Given the description of an element on the screen output the (x, y) to click on. 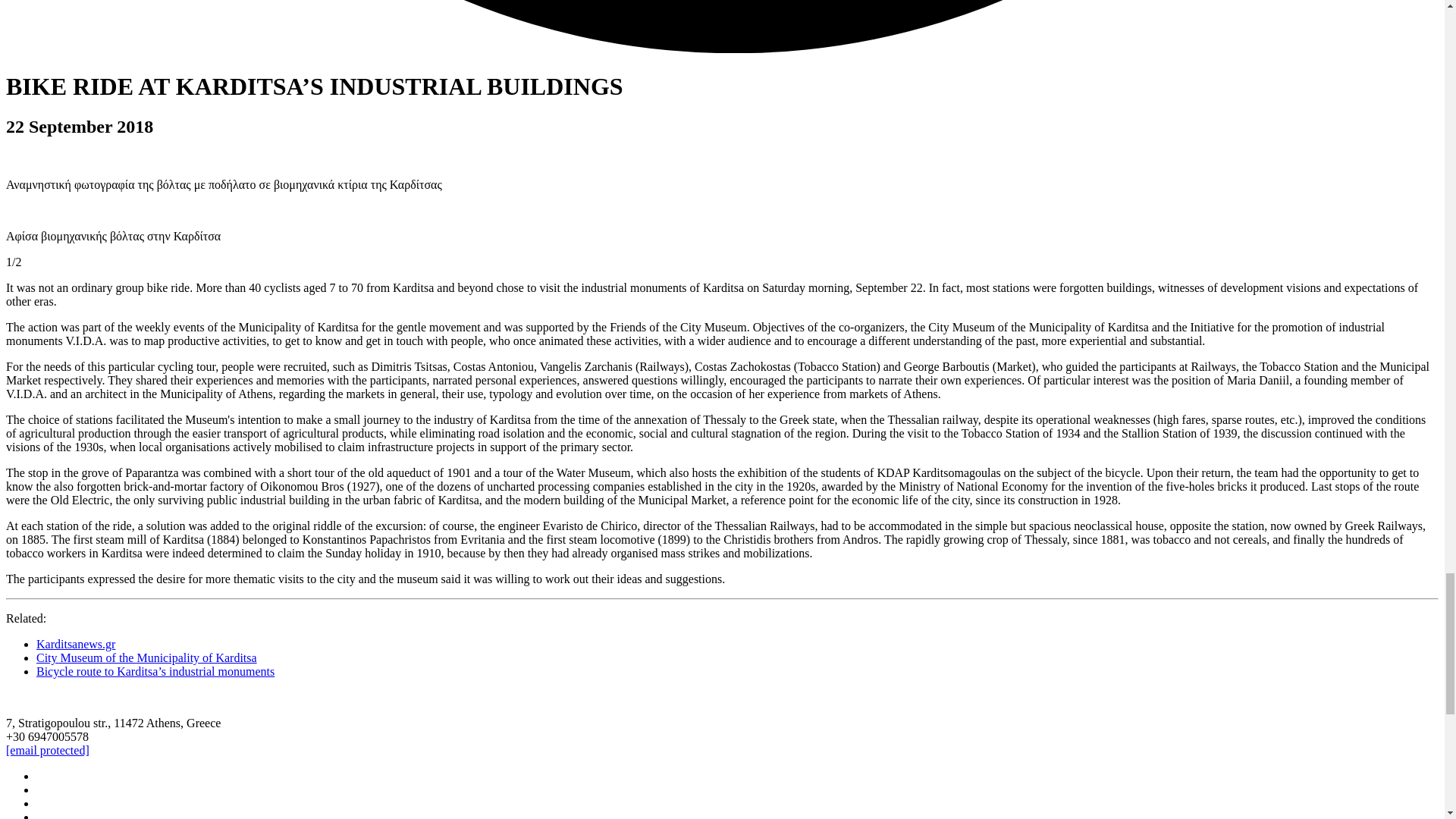
City Museum of the Municipality of Karditsa (146, 657)
Karditsanews.gr (75, 644)
